Given the description of an element on the screen output the (x, y) to click on. 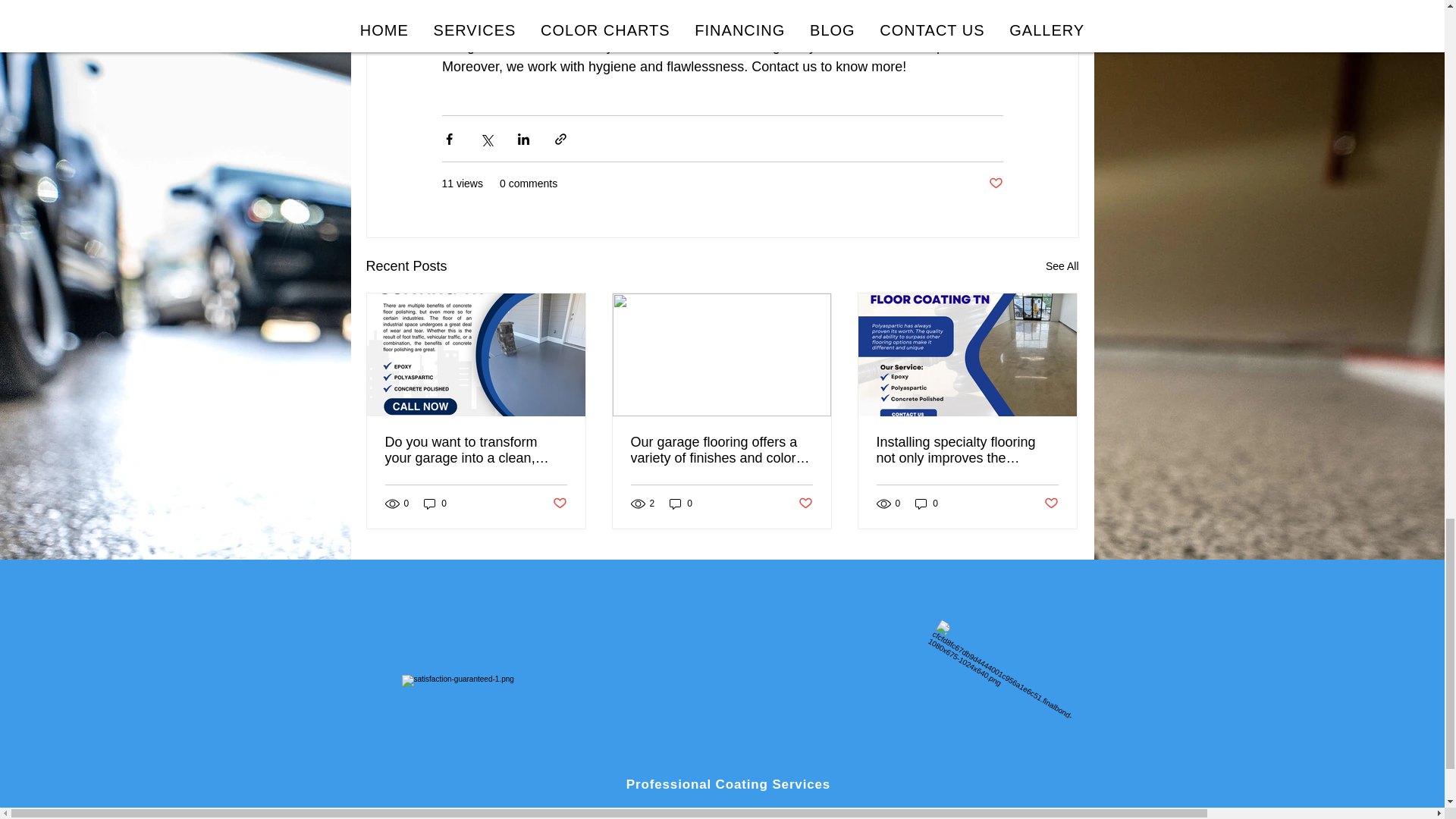
Post not marked as liked (558, 503)
Post not marked as liked (1050, 503)
Post not marked as liked (995, 183)
0 (681, 503)
See All (1061, 266)
0 (435, 503)
0 (926, 503)
Professional Coating Services (727, 784)
Post not marked as liked (804, 503)
